Given the description of an element on the screen output the (x, y) to click on. 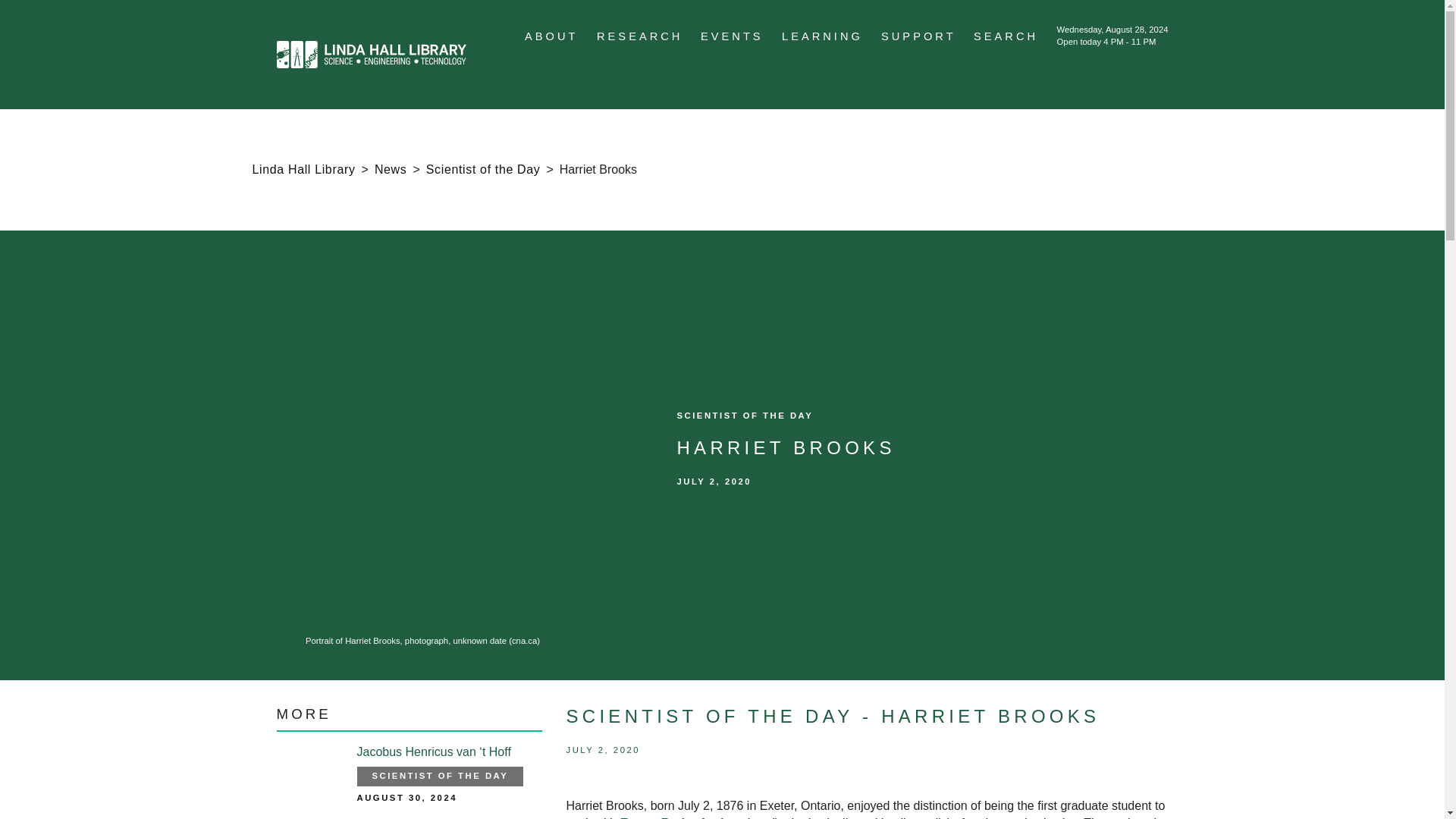
LEARNING (822, 36)
RESEARCH (639, 36)
EVENTS (731, 36)
ABOUT (551, 36)
